Given the description of an element on the screen output the (x, y) to click on. 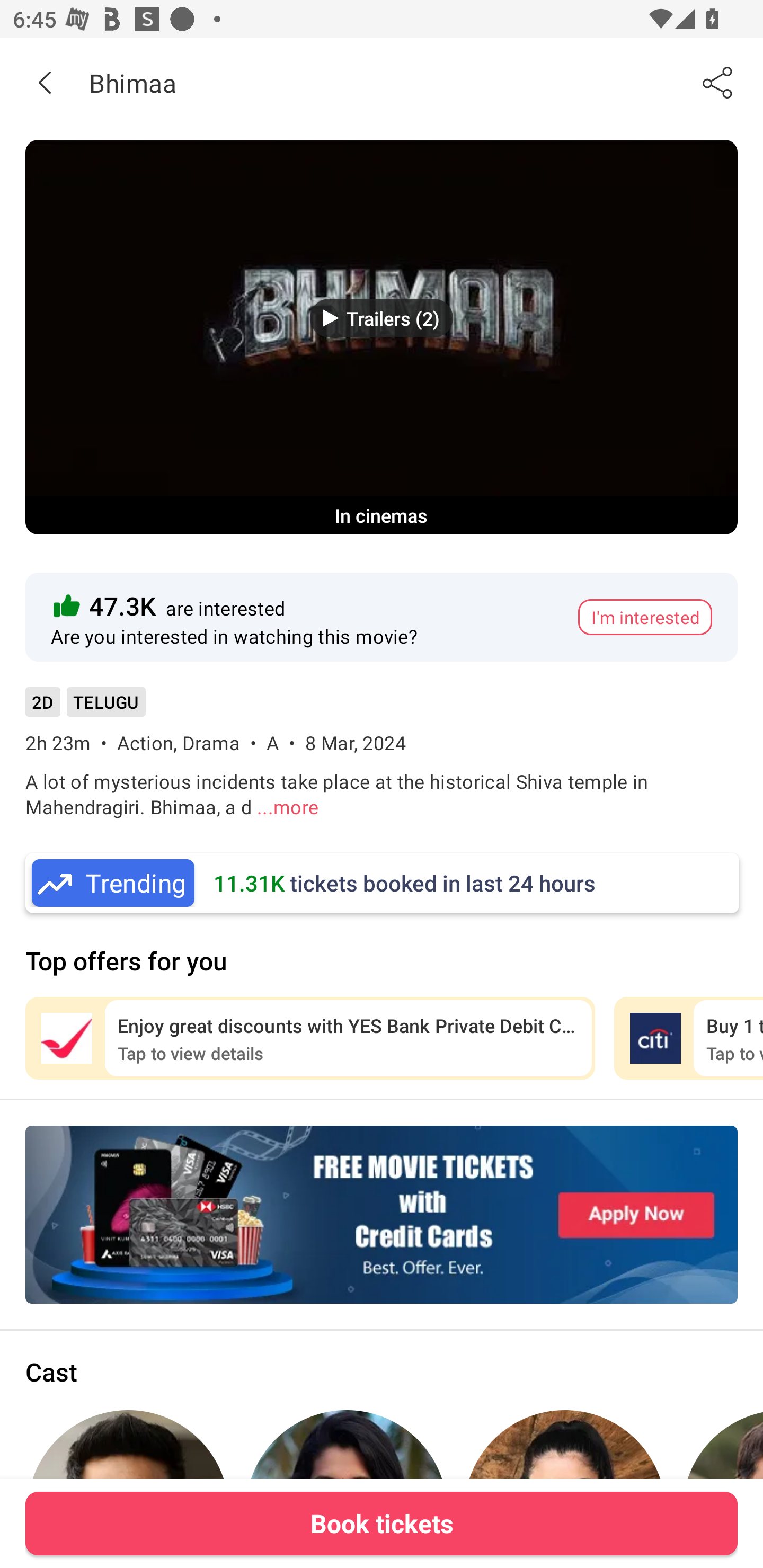
Back (44, 82)
Share (718, 82)
Movie Banner Trailers (2) In cinemas (381, 336)
Trailers (2) (381, 318)
I'm interested (644, 616)
2D TELUGU (85, 707)
Book tickets (381, 1523)
